Given the description of an element on the screen output the (x, y) to click on. 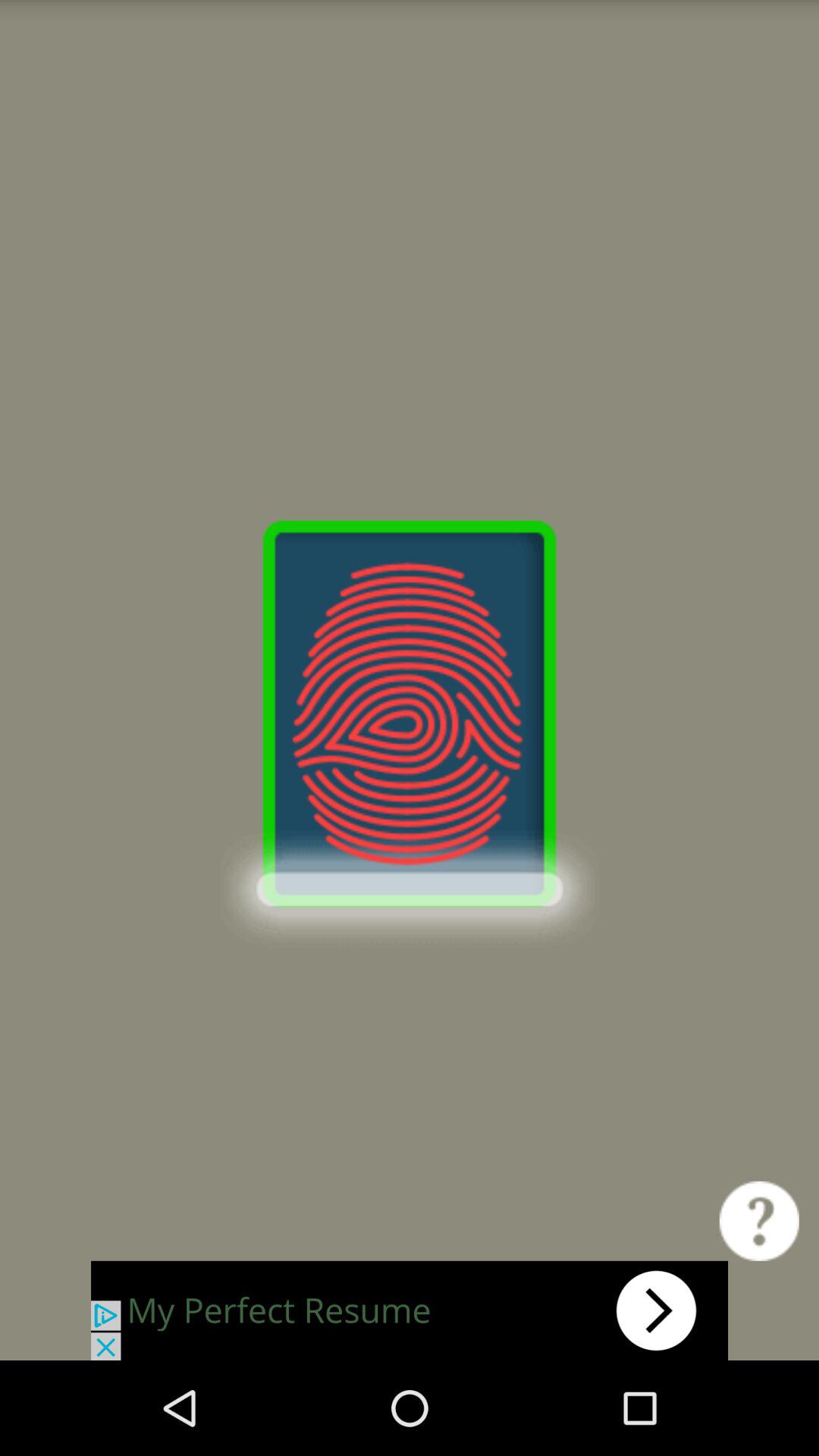
see advertisement (409, 1310)
